Given the description of an element on the screen output the (x, y) to click on. 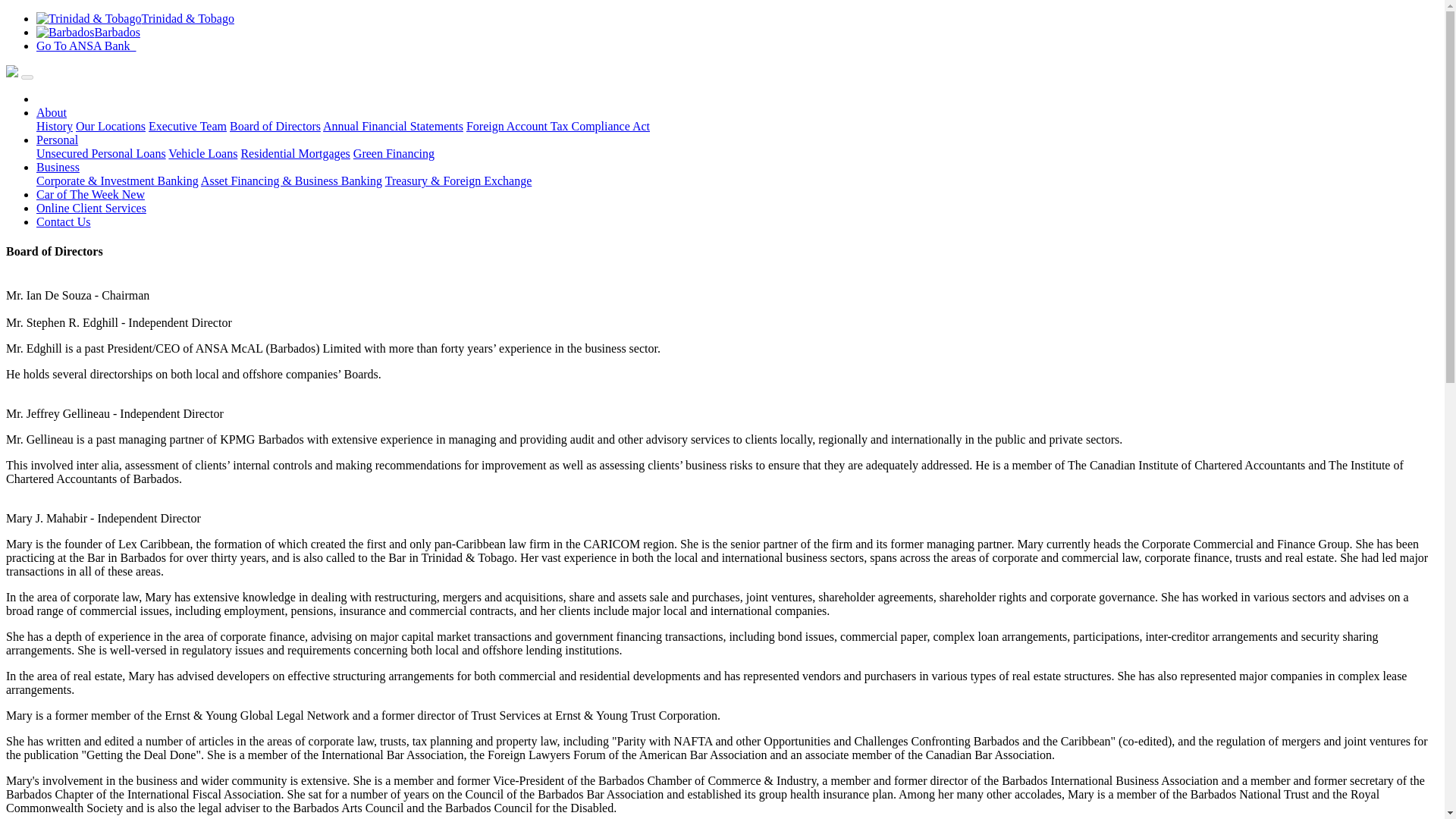
Our Locations (110, 125)
Executive Team (187, 125)
Residential Mortgages (294, 153)
Annual Financial Statements (393, 125)
About (51, 112)
Unsecured Personal Loans (100, 153)
Green Financing (393, 153)
Vehicle Loans (202, 153)
History (54, 125)
Business (58, 166)
Board of Directors (275, 125)
Personal (57, 139)
Foreign Account Tax Compliance Act (557, 125)
Contact Us (63, 221)
Online Client Services (91, 207)
